Given the description of an element on the screen output the (x, y) to click on. 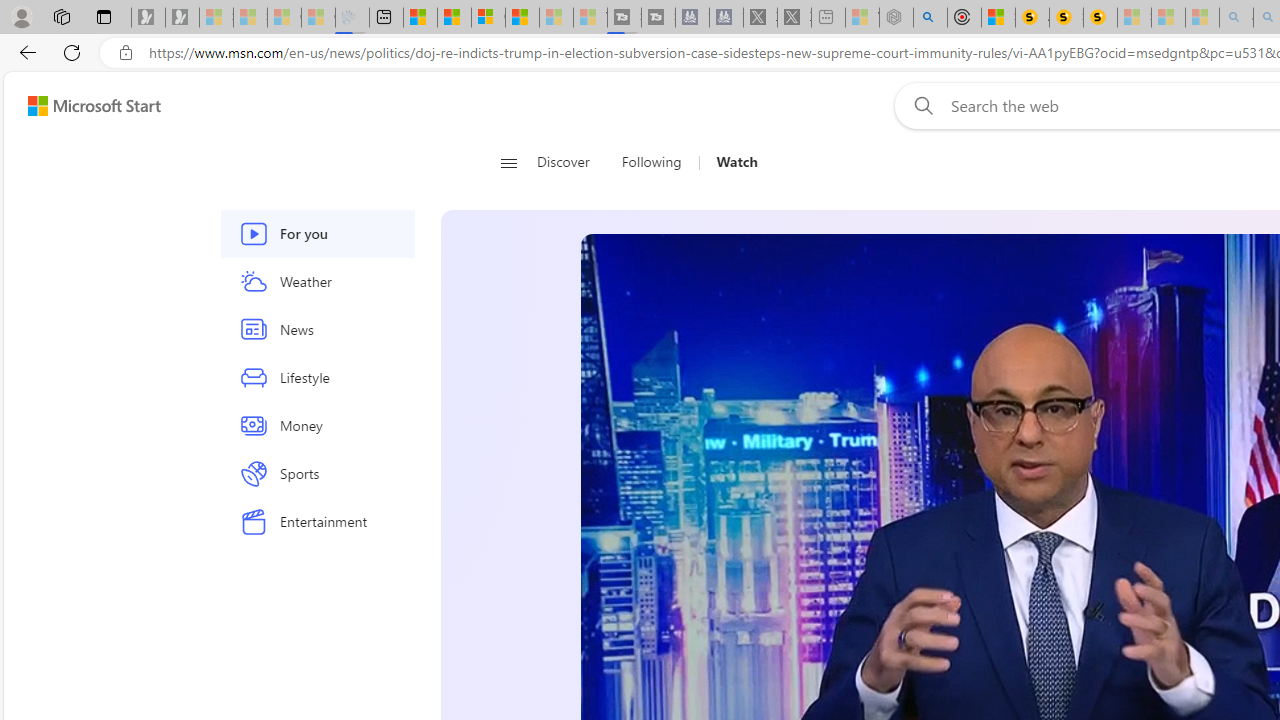
Class: button-glyph (508, 162)
Microsoft Start (94, 105)
Tab actions menu (104, 16)
Nordace - Summer Adventures 2024 - Sleeping (895, 17)
Discover (571, 162)
X - Sleeping (794, 17)
Wildlife - MSN - Sleeping (862, 17)
Overview (488, 17)
Open navigation menu (508, 162)
Workspaces (61, 16)
